Given the description of an element on the screen output the (x, y) to click on. 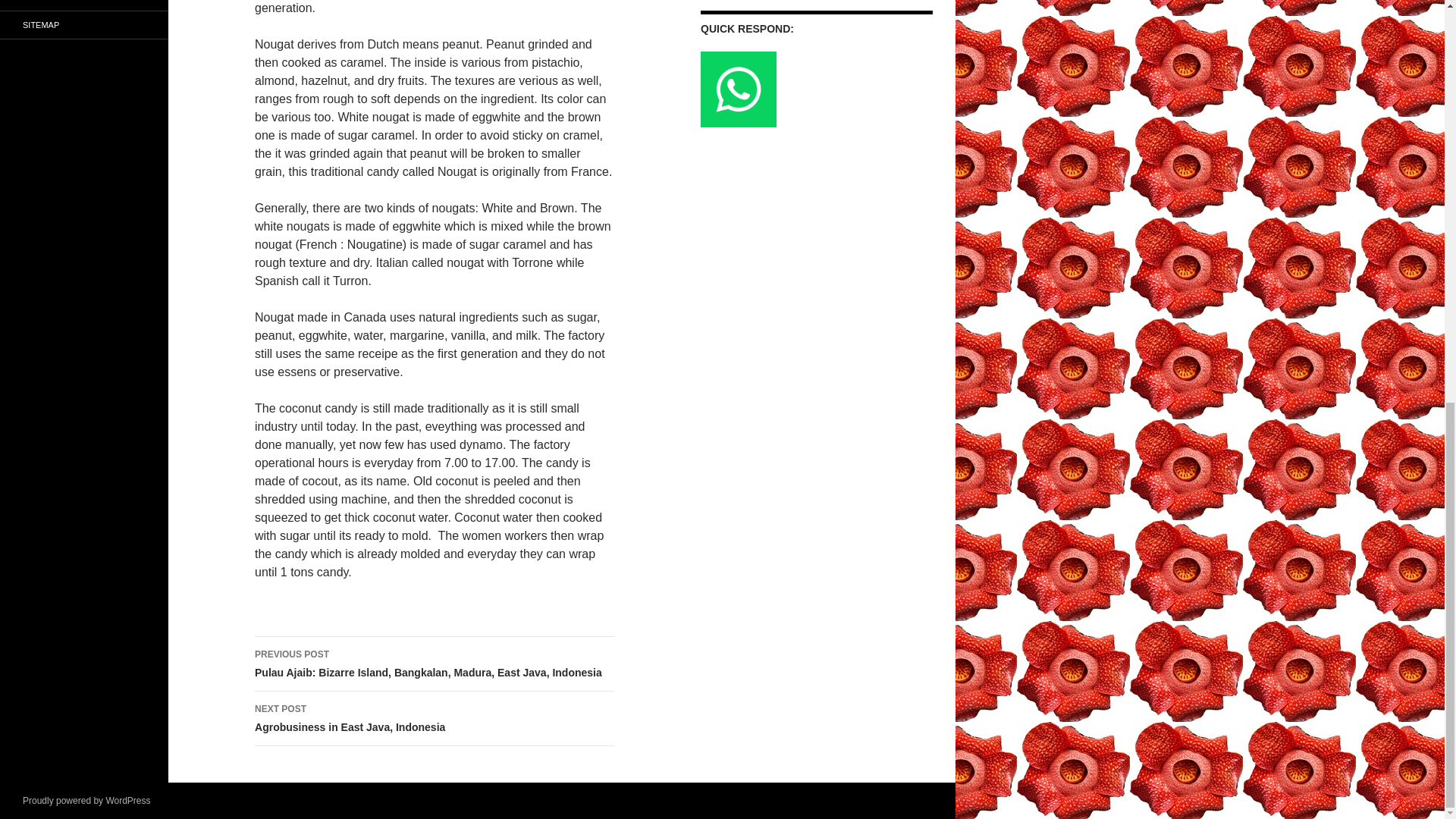
Proudly powered by WordPress (87, 800)
SITEMAP (434, 718)
CRUISE SHORE EXCURSION (84, 25)
